Given the description of an element on the screen output the (x, y) to click on. 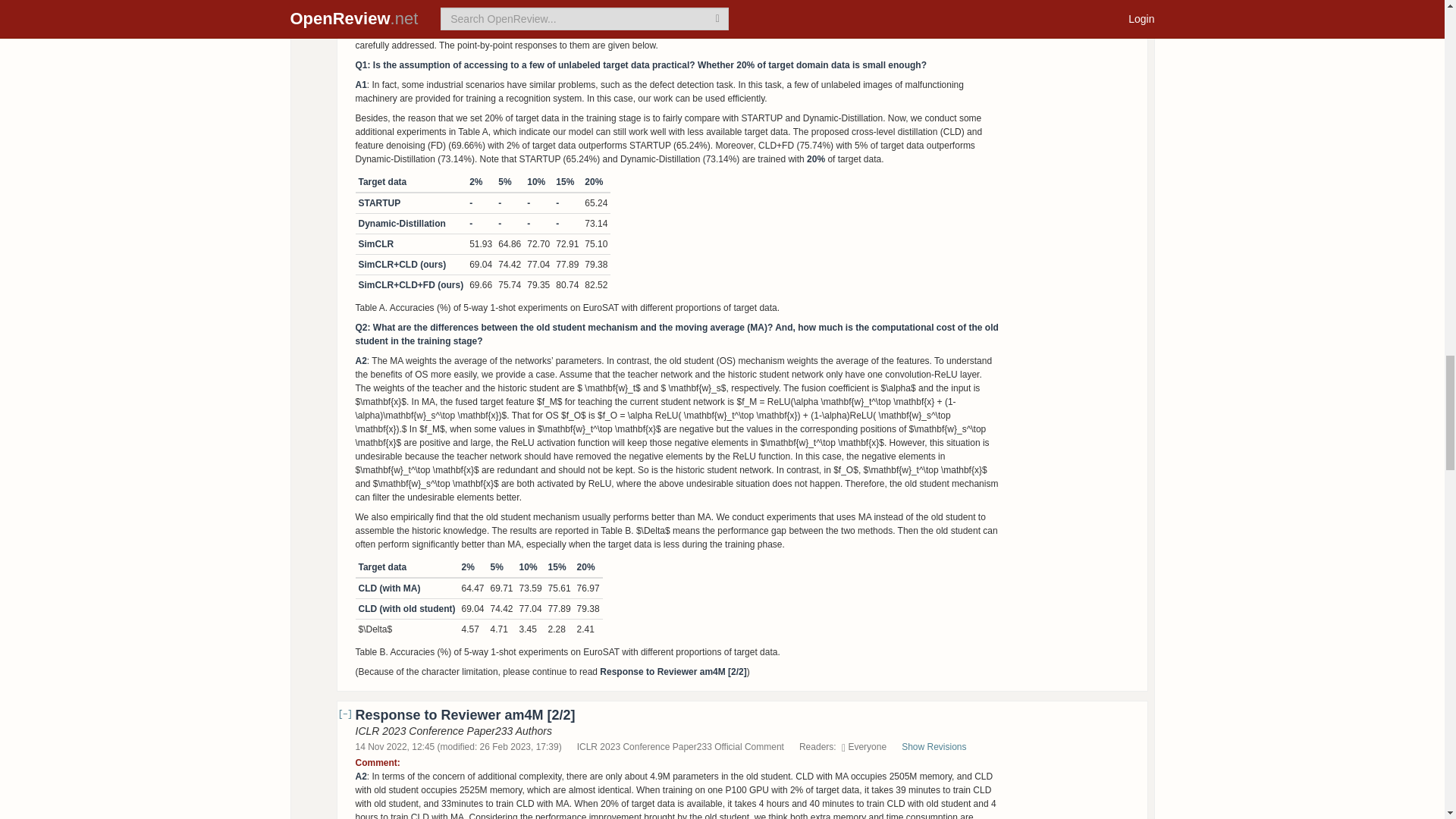
Show Revisions (941, 747)
Show Revisions (941, 3)
